Given the description of an element on the screen output the (x, y) to click on. 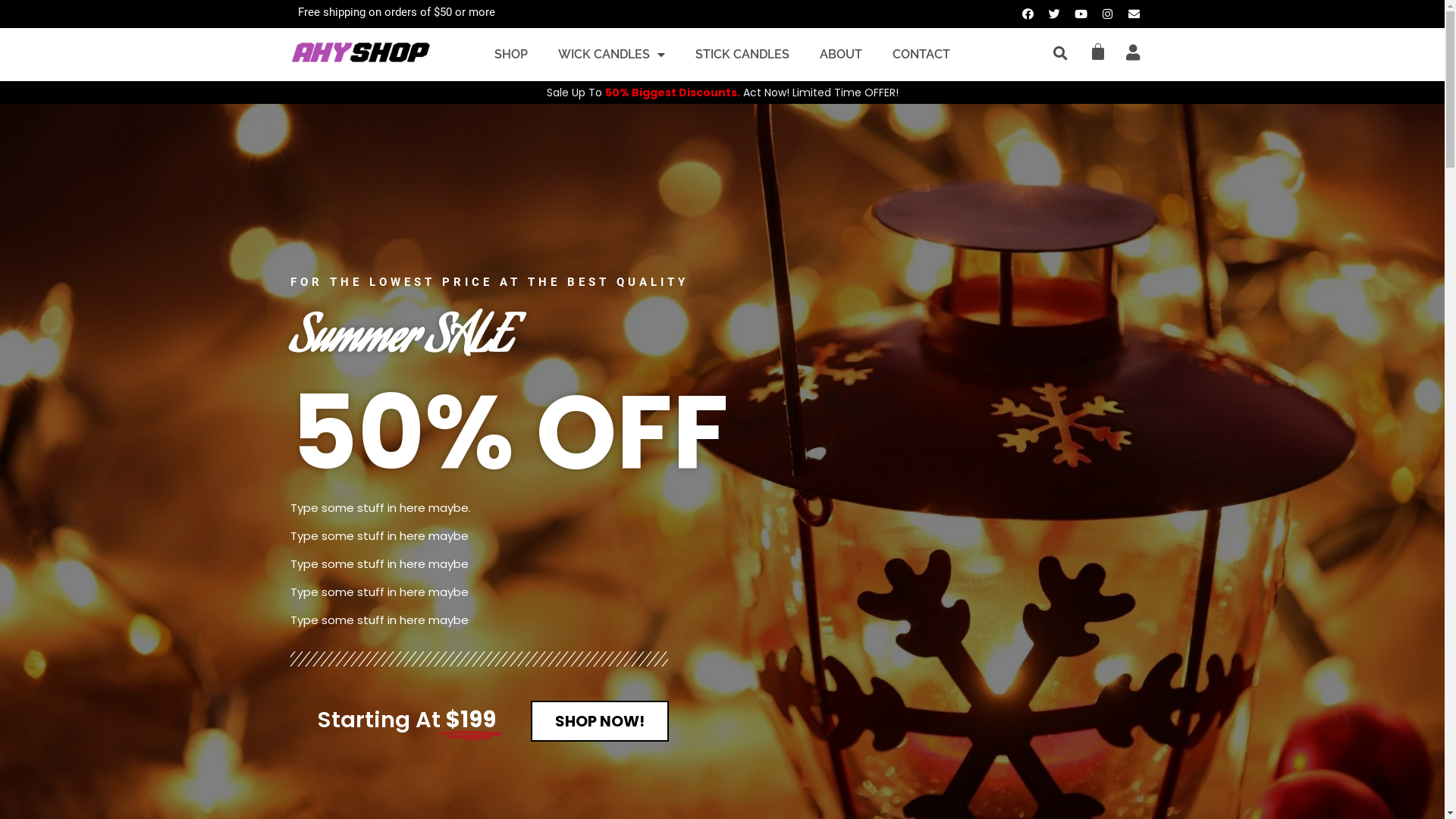
CONTACT Element type: text (921, 54)
ABOUT Element type: text (840, 54)
WICK CANDLES Element type: text (611, 54)
STICK CANDLES Element type: text (742, 54)
SHOP NOW! Element type: text (599, 720)
SHOP Element type: text (510, 54)
